Given the description of an element on the screen output the (x, y) to click on. 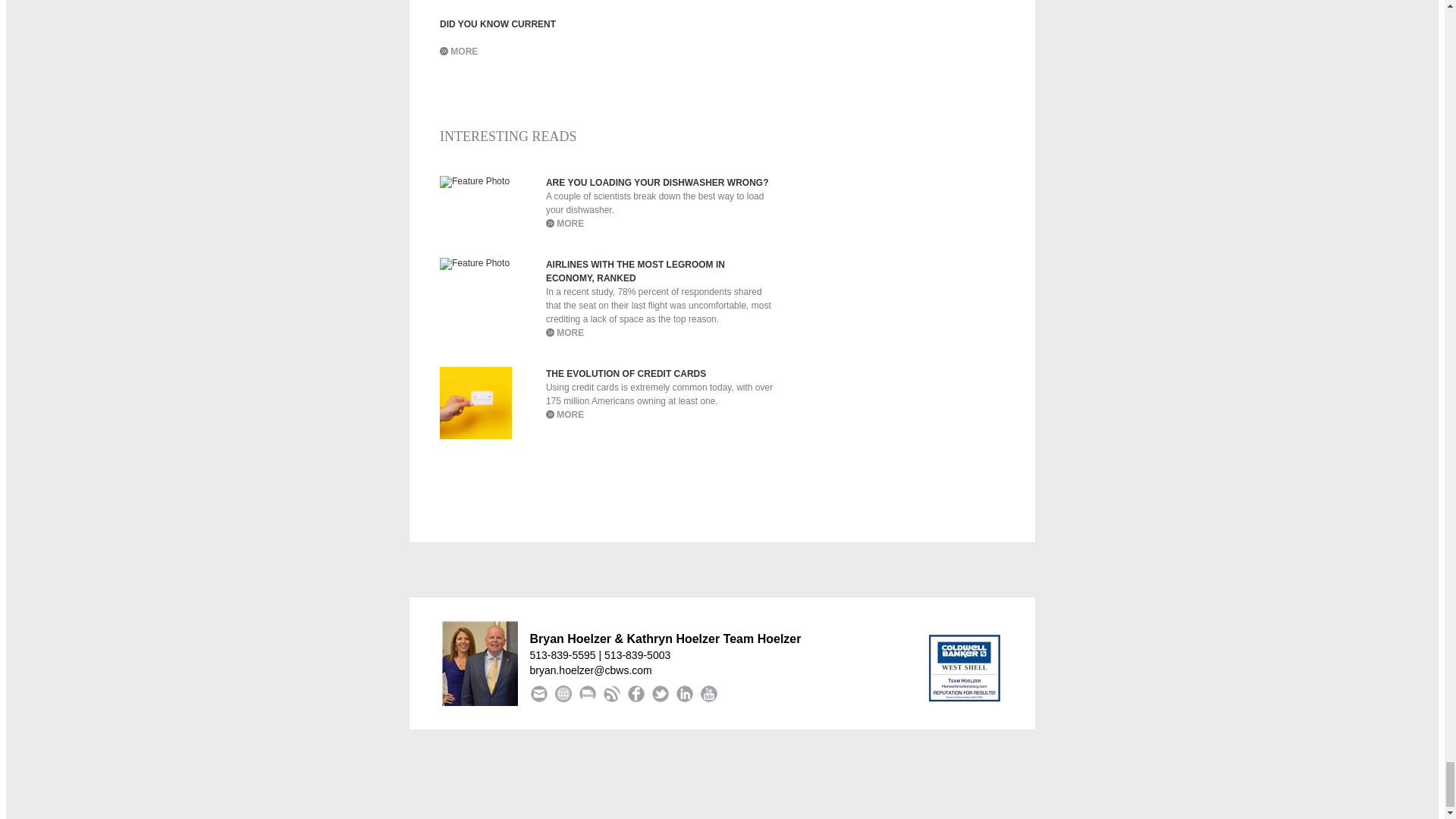
MORE (463, 50)
